Given the description of an element on the screen output the (x, y) to click on. 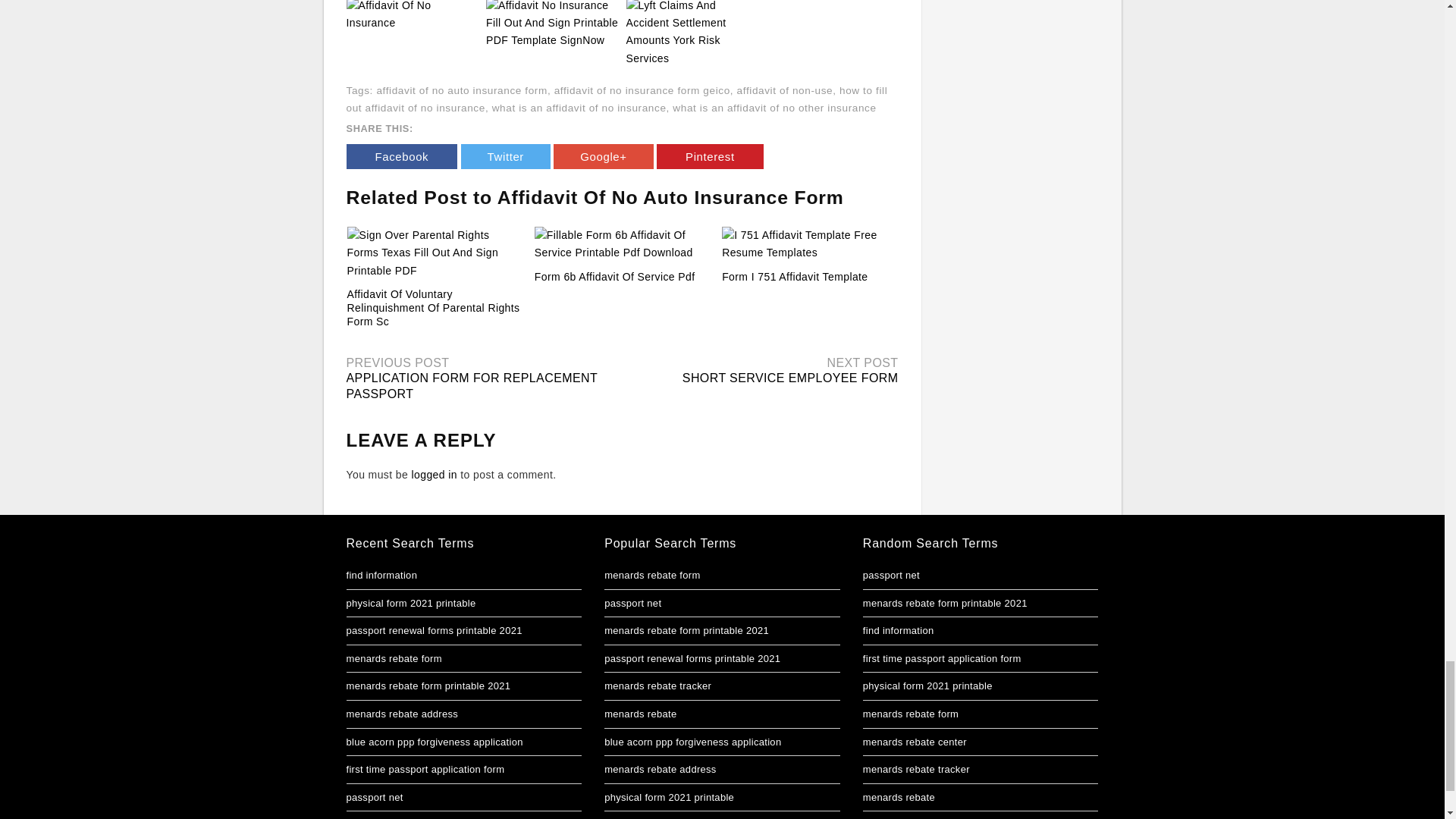
how to fill out affidavit of no insurance (616, 99)
Facebook (401, 156)
Form 6b Affidavit Of Service Pdf (614, 276)
what is an affidavit of no insurance (579, 107)
what is an affidavit of no other insurance (774, 107)
Pinterest (709, 156)
APPLICATION FORM FOR REPLACEMENT PASSPORT (471, 385)
